Given the description of an element on the screen output the (x, y) to click on. 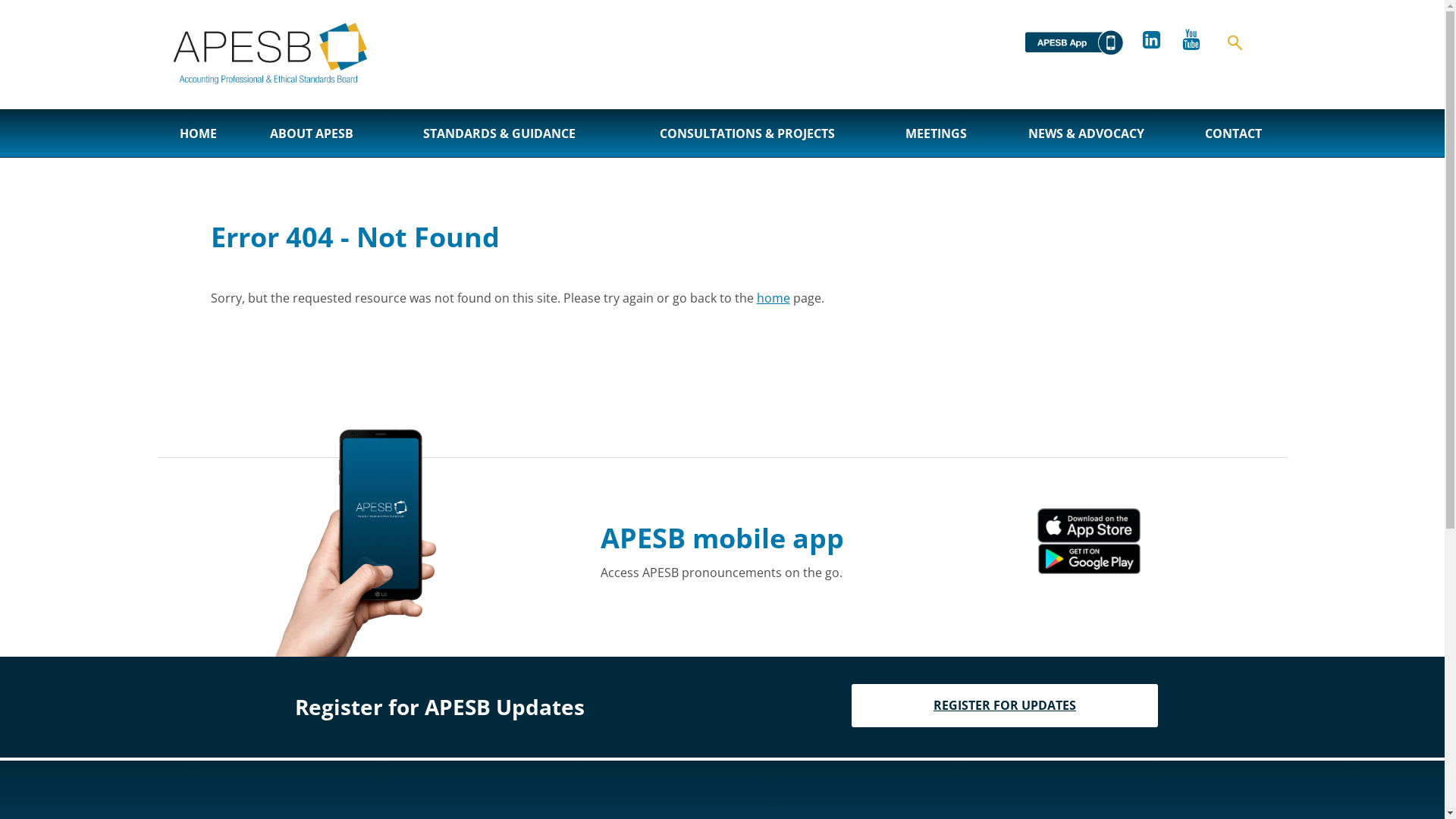
REGISTER FOR UPDATES Element type: text (1004, 705)
home Element type: text (773, 297)
MEETINGS Element type: text (935, 133)
HOME Element type: text (198, 133)
ABOUT APESB Element type: text (310, 133)
CONSULTATIONS & PROJECTS Element type: text (746, 133)
STANDARDS & GUIDANCE Element type: text (499, 133)
CONTACT Element type: text (1233, 133)
NEWS & ADVOCACY Element type: text (1086, 133)
